Given the description of an element on the screen output the (x, y) to click on. 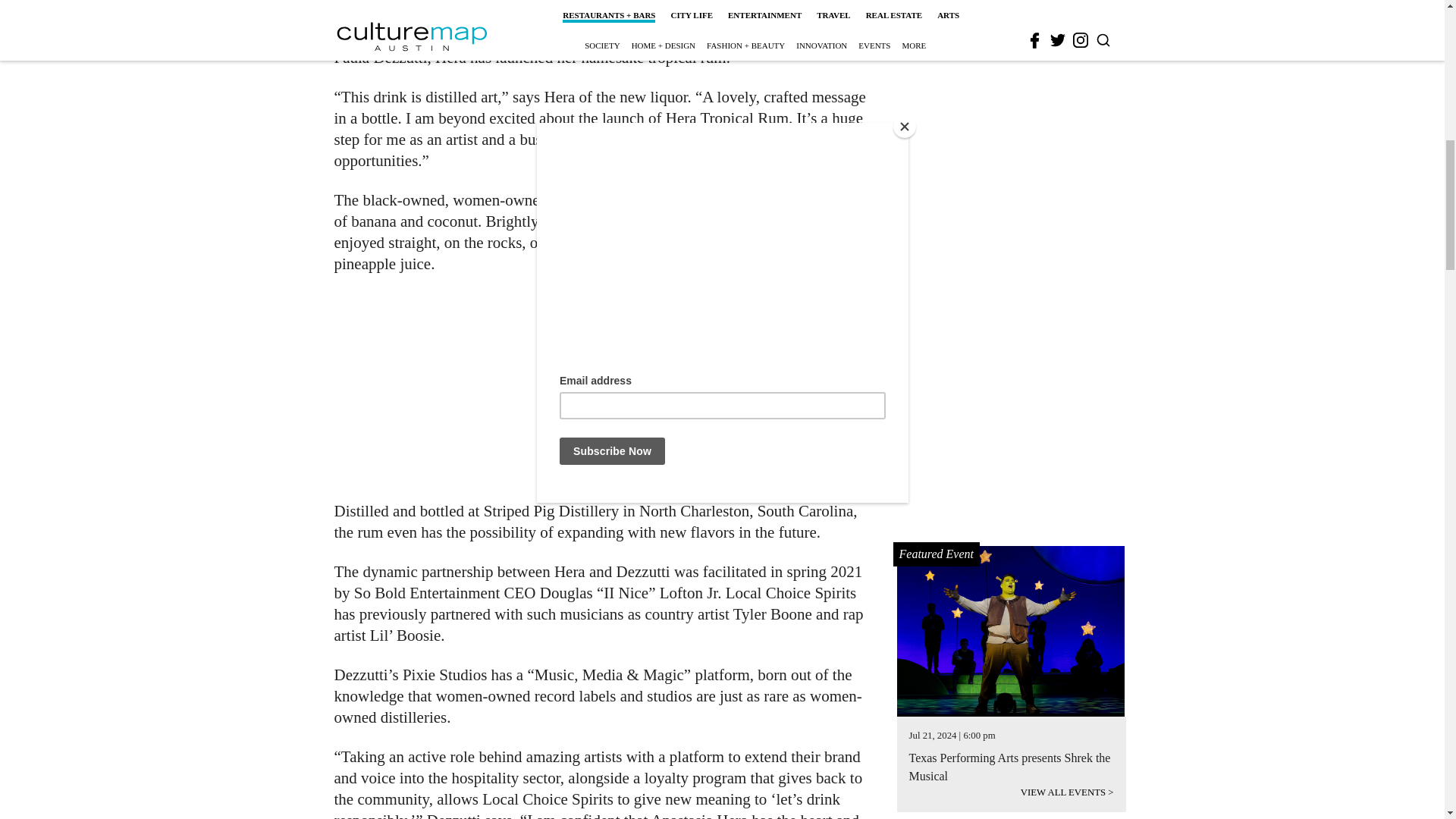
3rd party ad content (600, 387)
3rd party ad content (1011, 4)
